Given the description of an element on the screen output the (x, y) to click on. 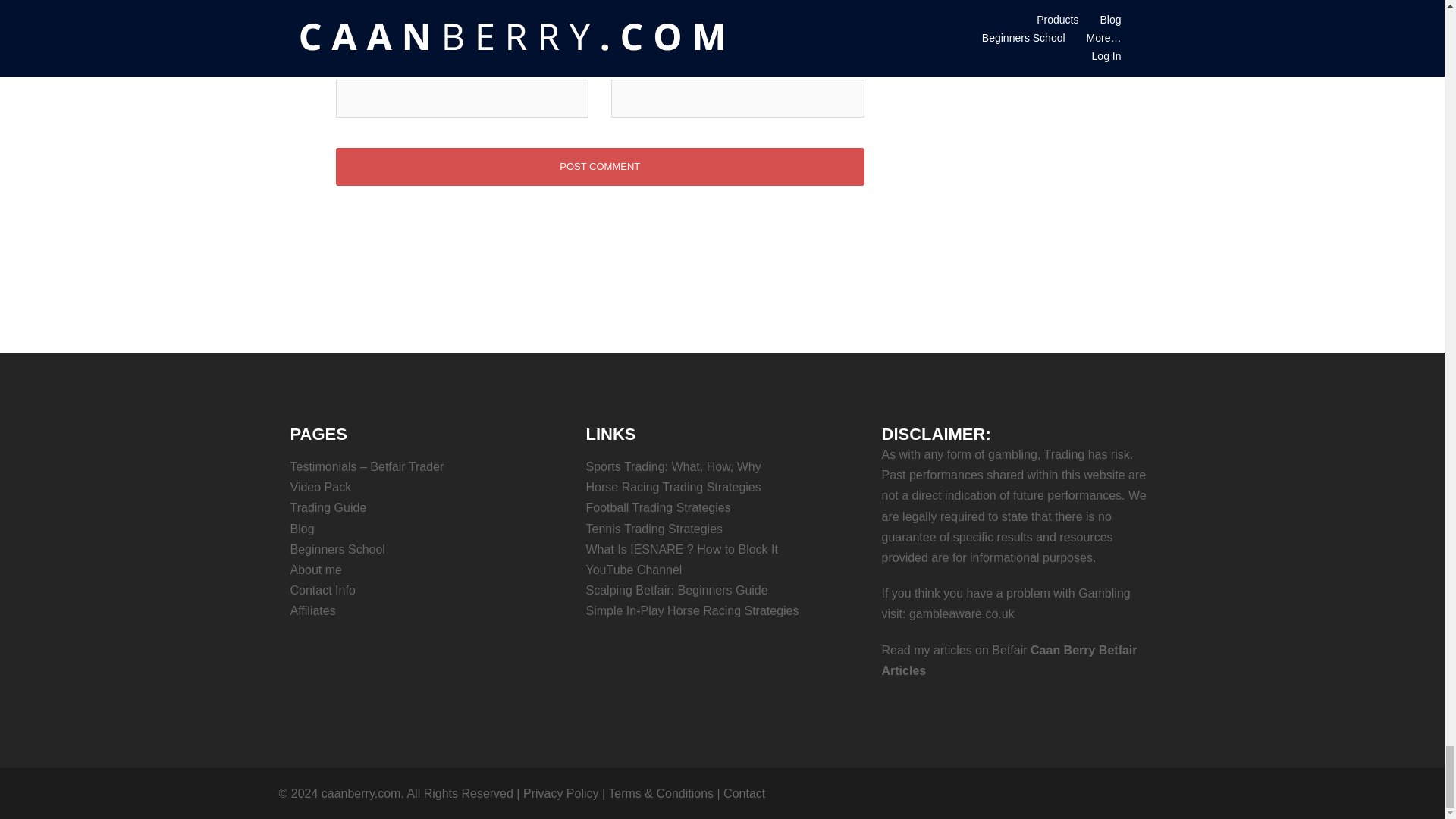
Post Comment (599, 166)
